Given the description of an element on the screen output the (x, y) to click on. 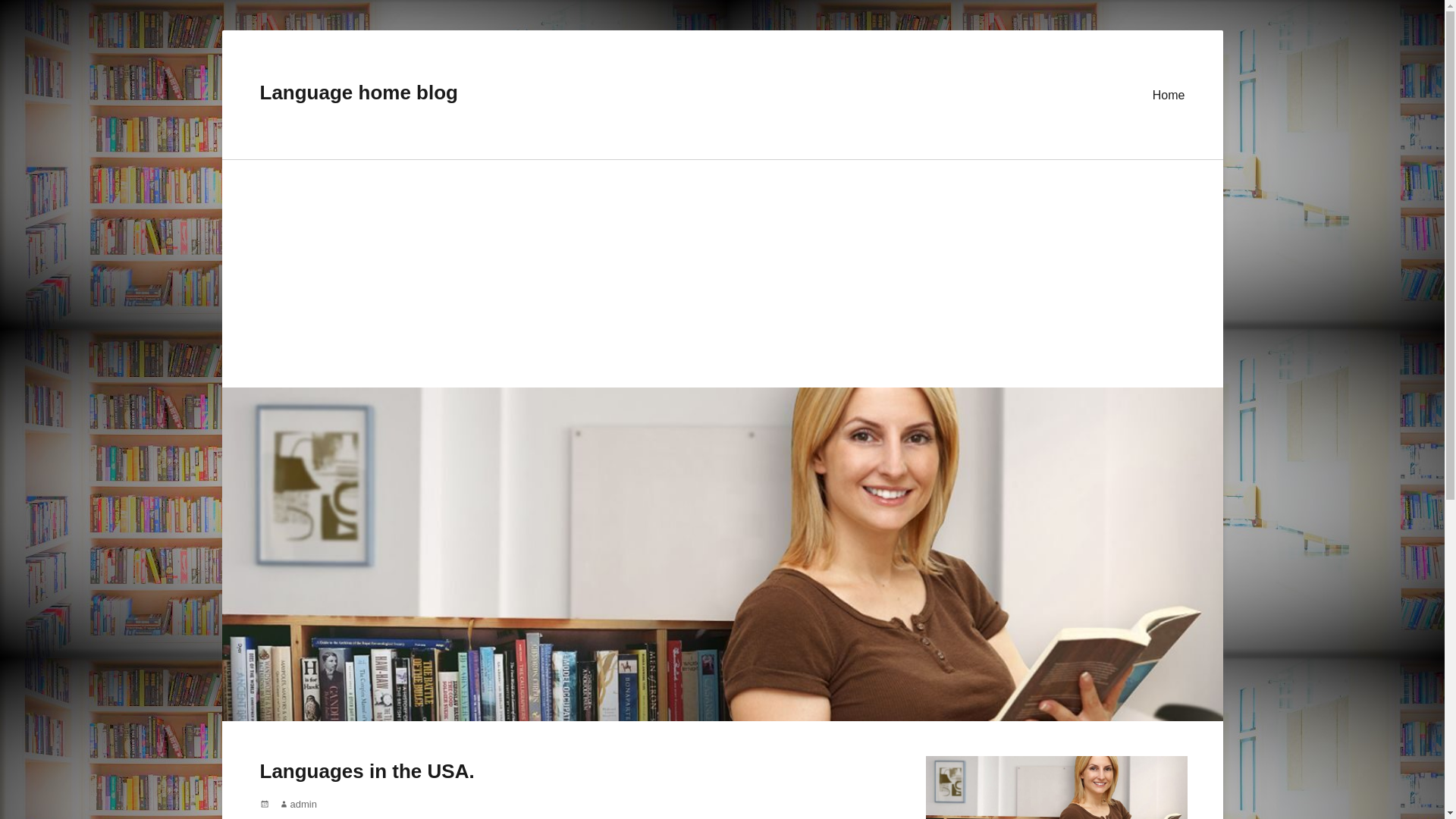
admin (298, 803)
Home (1168, 94)
Language home blog (358, 92)
